Given the description of an element on the screen output the (x, y) to click on. 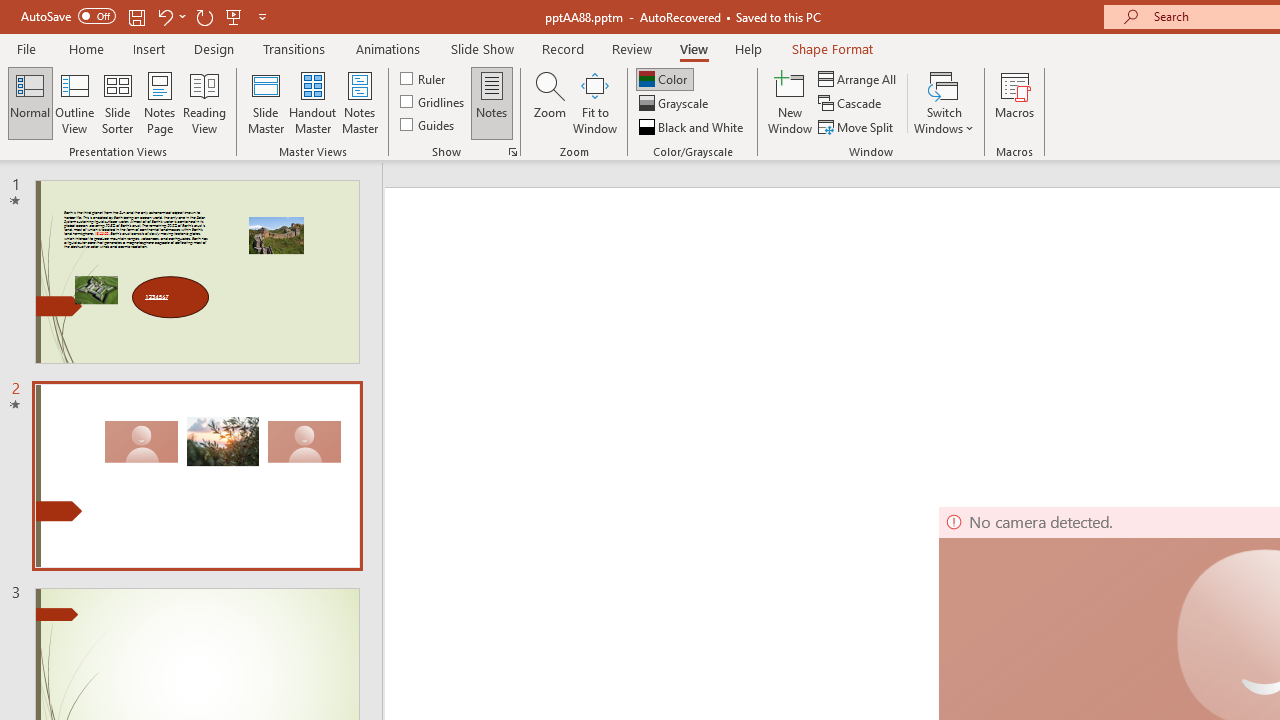
Zoom... (549, 102)
Fit to Window (594, 102)
New Window (790, 102)
Guides (428, 124)
Macros (1014, 102)
Move Split (857, 126)
